Given the description of an element on the screen output the (x, y) to click on. 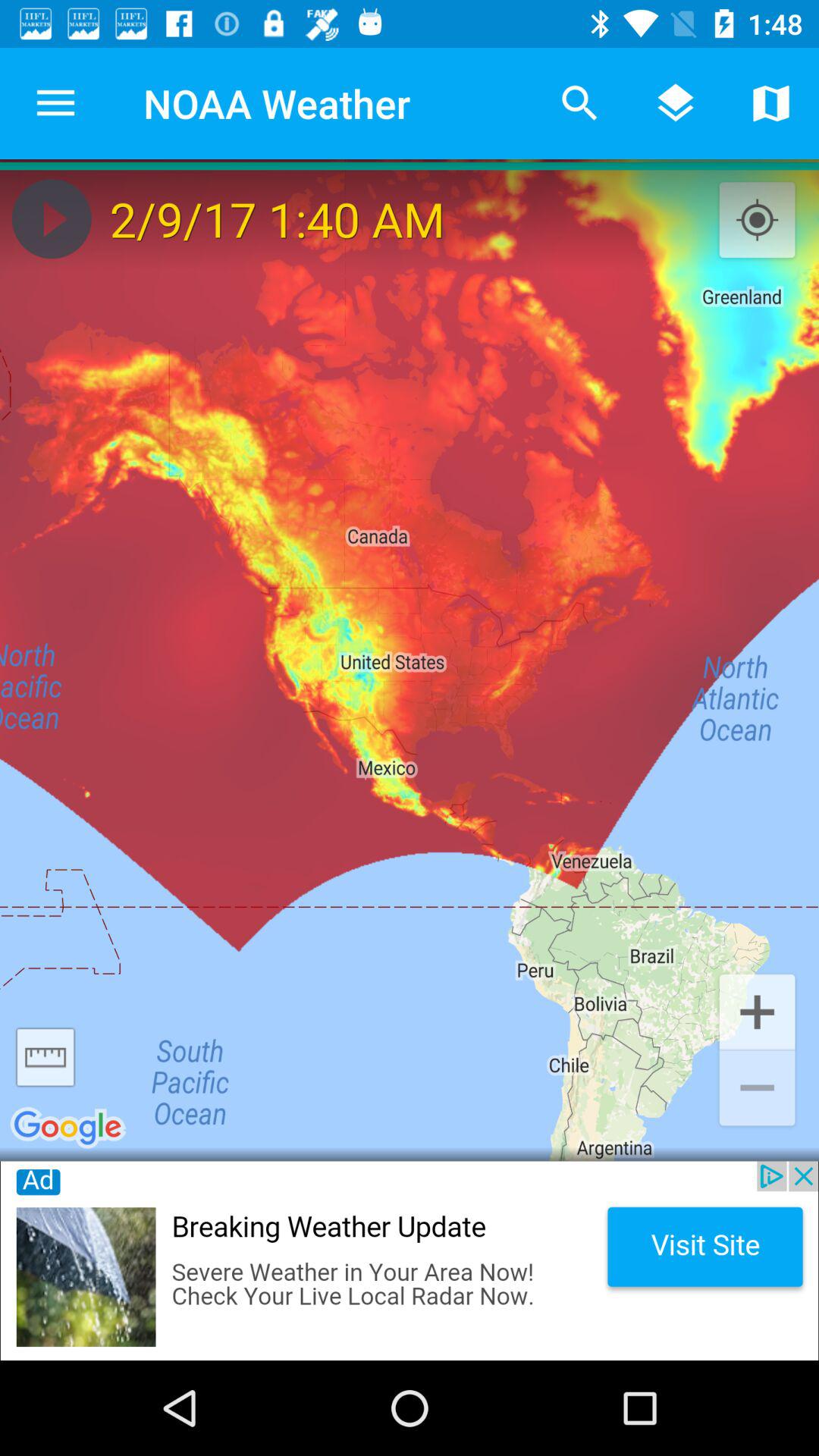
scale (45, 1057)
